Given the description of an element on the screen output the (x, y) to click on. 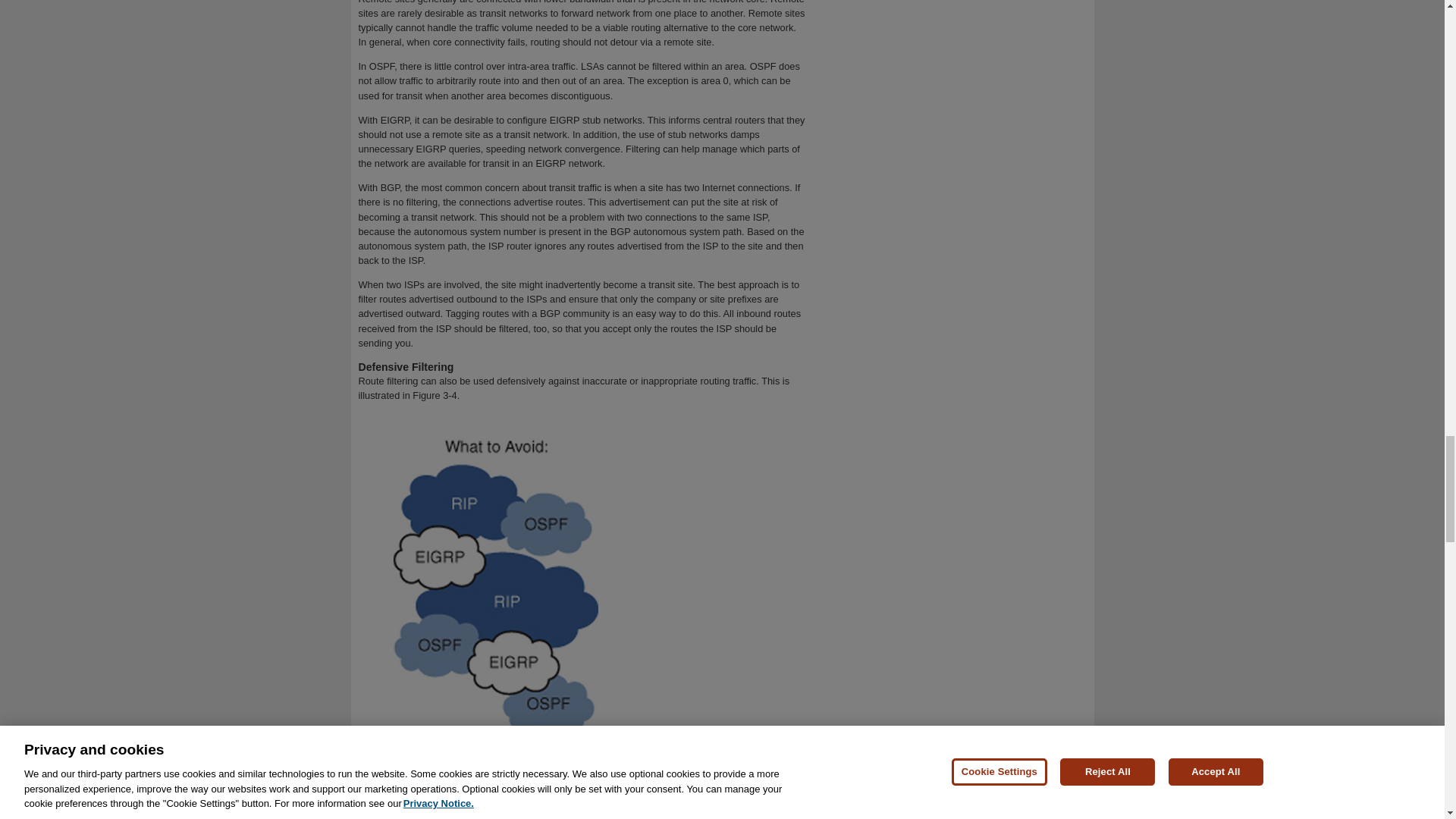
Figure 3-4 (434, 395)
